Given the description of an element on the screen output the (x, y) to click on. 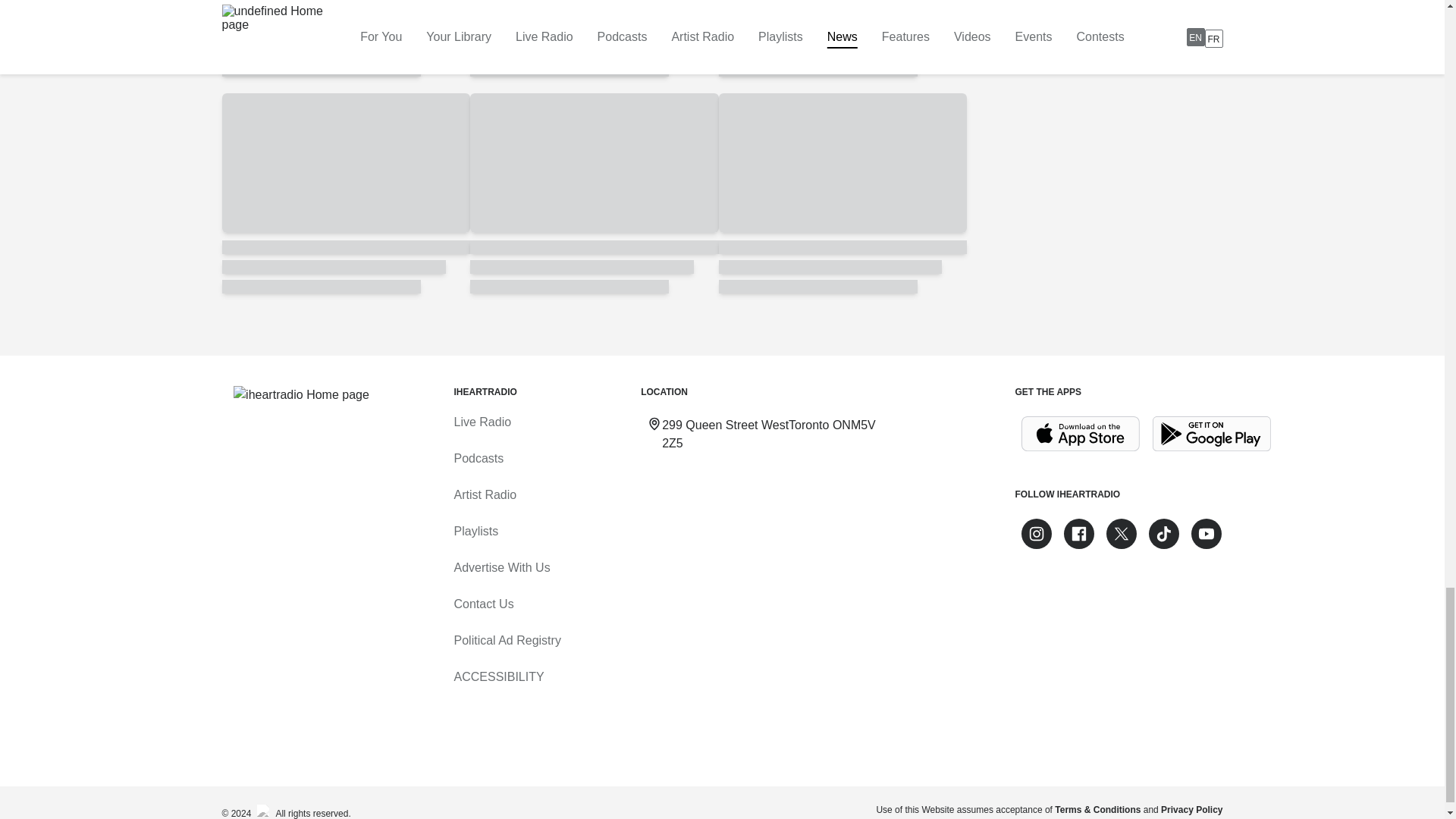
Advertise With Us (501, 567)
Political Ad Registry (506, 640)
Get it on Google Play (1212, 434)
Contact Us (482, 603)
Playlists (474, 530)
Accessibility (497, 676)
Privacy Policy (1191, 809)
Live Radio (481, 421)
ACCESSIBILITY (497, 676)
Artist Radio (484, 494)
